Given the description of an element on the screen output the (x, y) to click on. 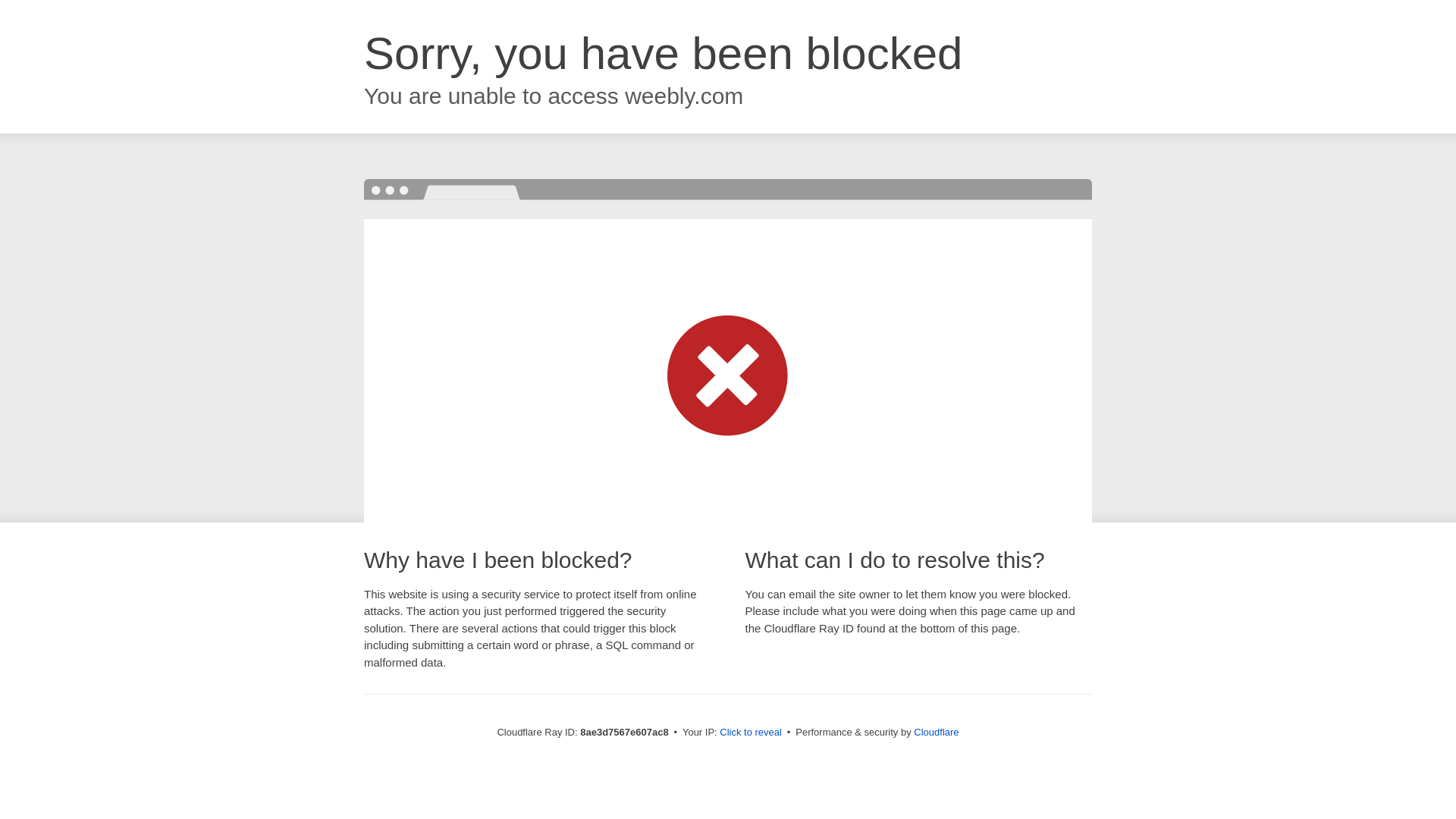
Click to reveal (750, 732)
Cloudflare (936, 731)
